Given the description of an element on the screen output the (x, y) to click on. 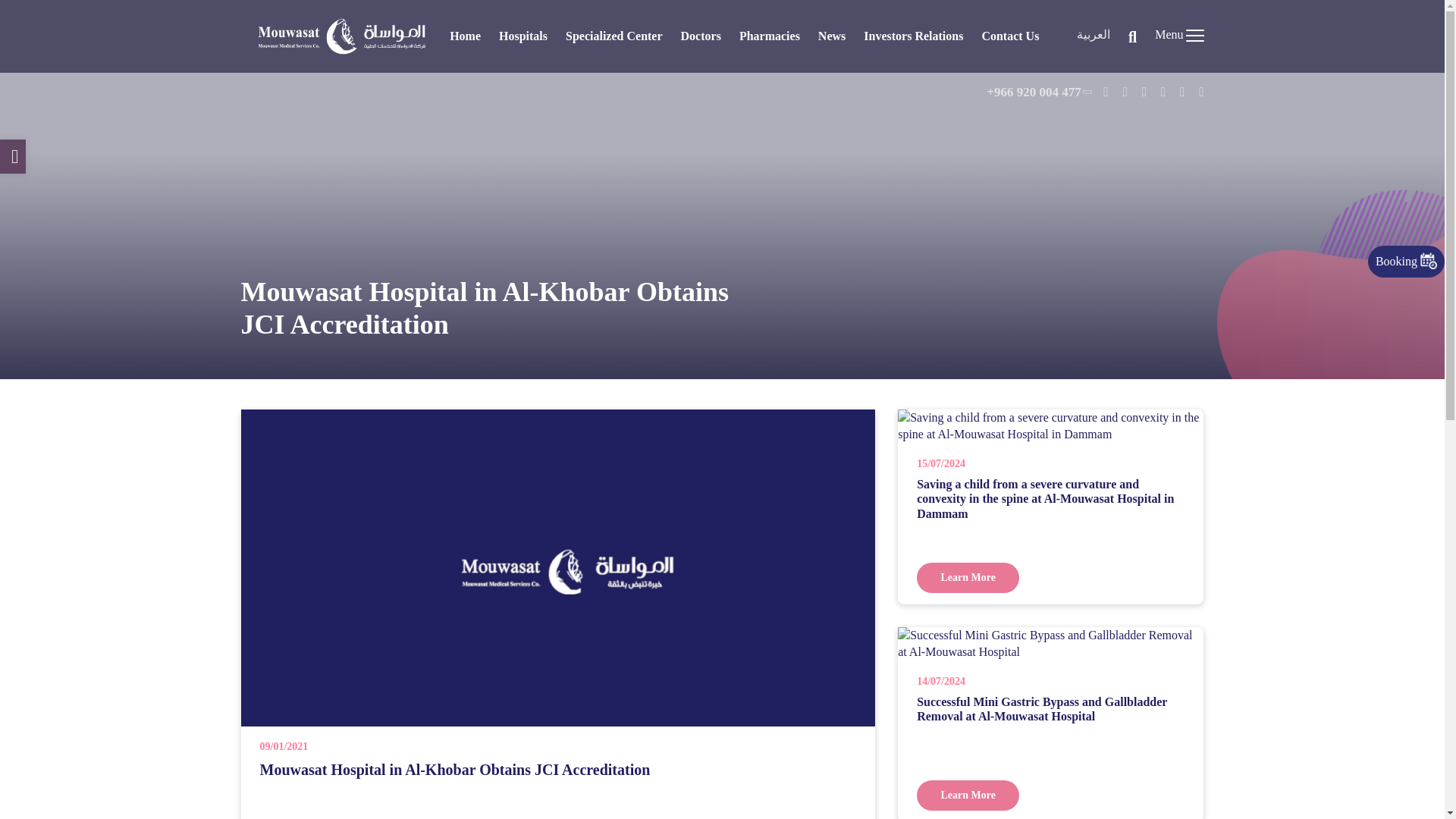
News (831, 35)
Hospitals (523, 35)
Menu (1179, 36)
Specialized Center (614, 35)
Investors Relations (912, 35)
Contact Us (1010, 35)
Doctors (700, 35)
Pharmacies (769, 35)
Home (464, 35)
